Given the description of an element on the screen output the (x, y) to click on. 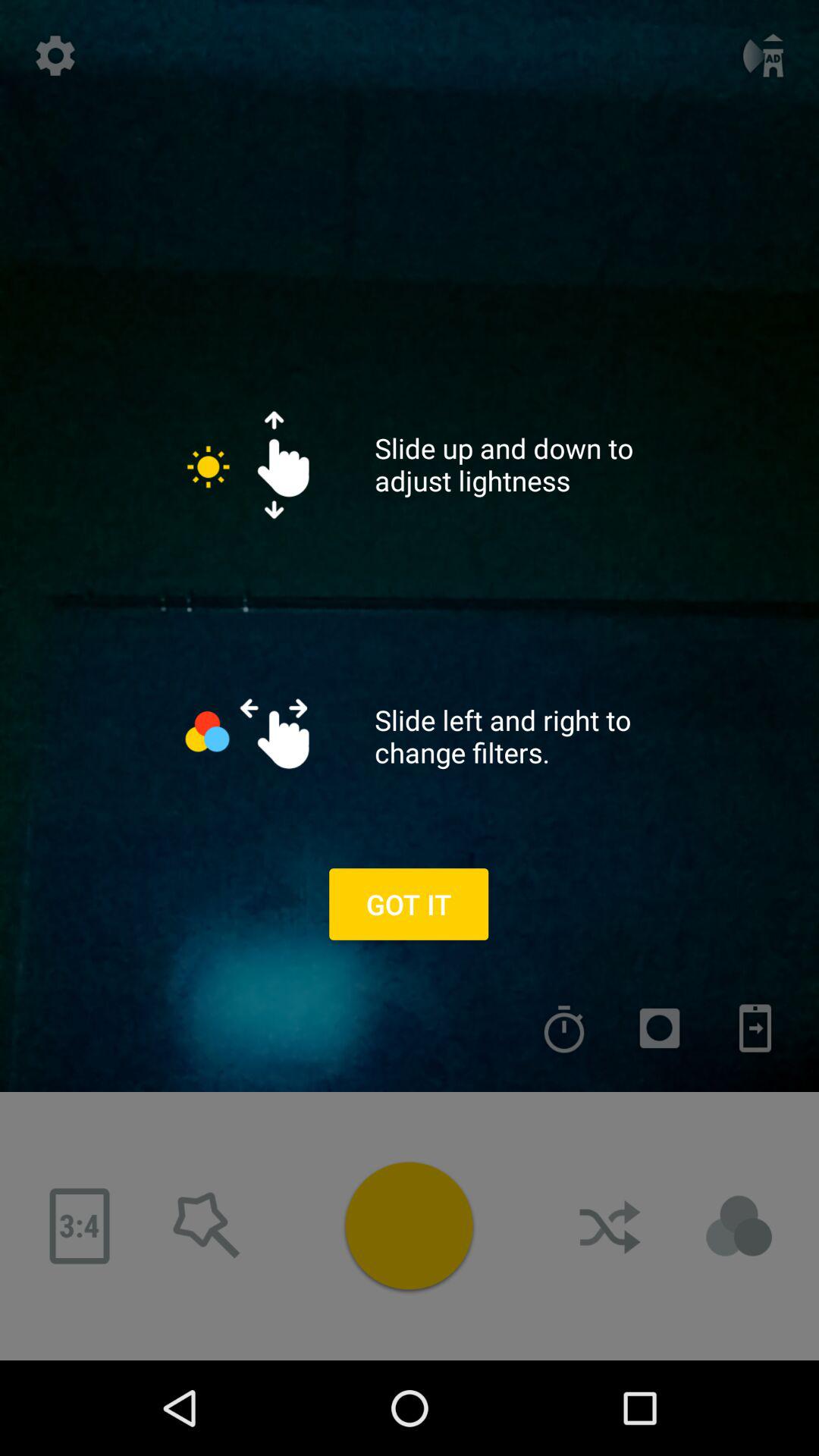
adv link (739, 1226)
